Given the description of an element on the screen output the (x, y) to click on. 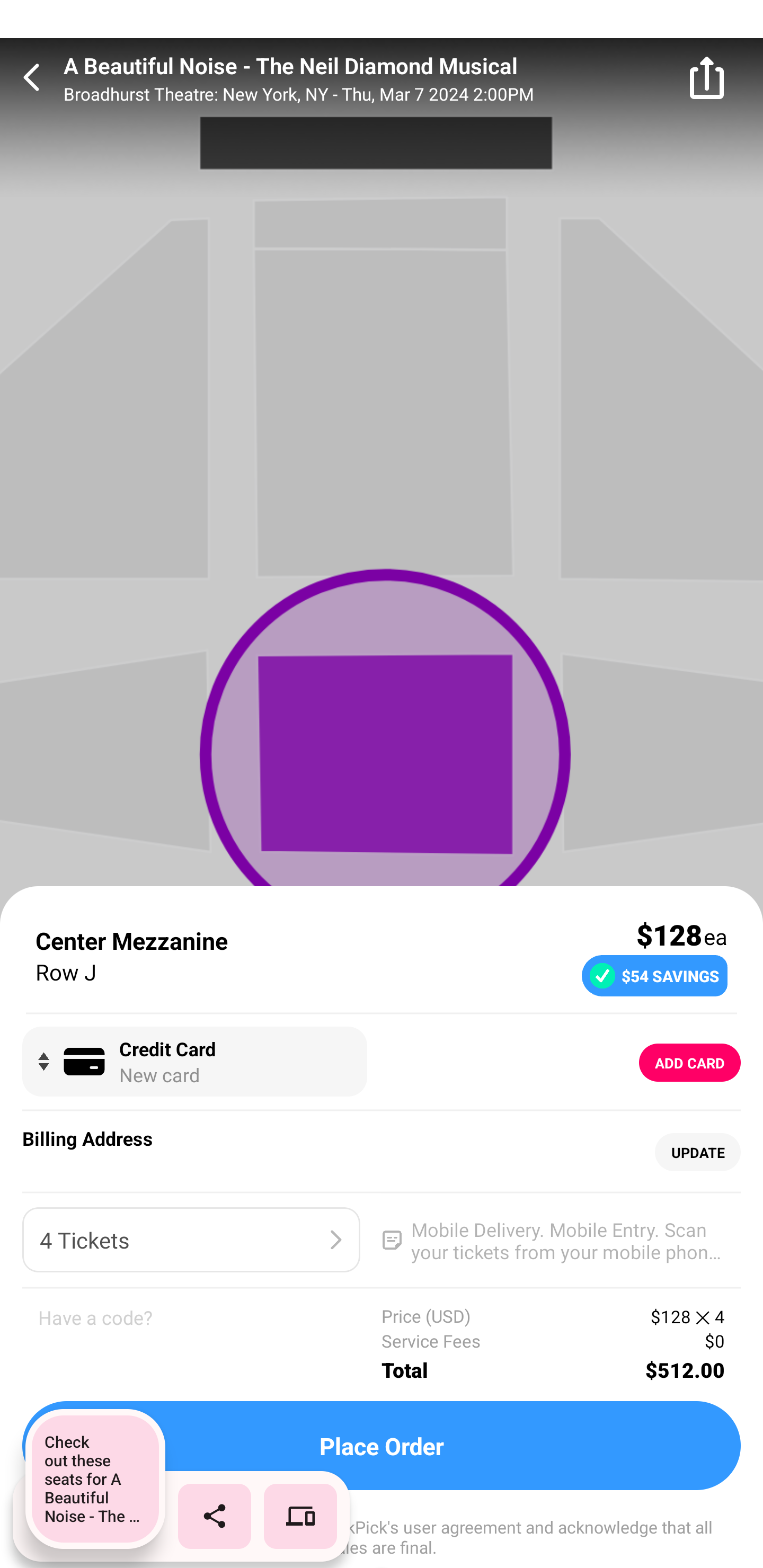
$54 SAVINGS (654, 974)
Credit Card, New card Credit Card New card (194, 1061)
ADD CARD (689, 1062)
UPDATE (697, 1152)
4 Tickets (191, 1239)
Have a code? (209, 1344)
Place Order (381, 1445)
